Given the description of an element on the screen output the (x, y) to click on. 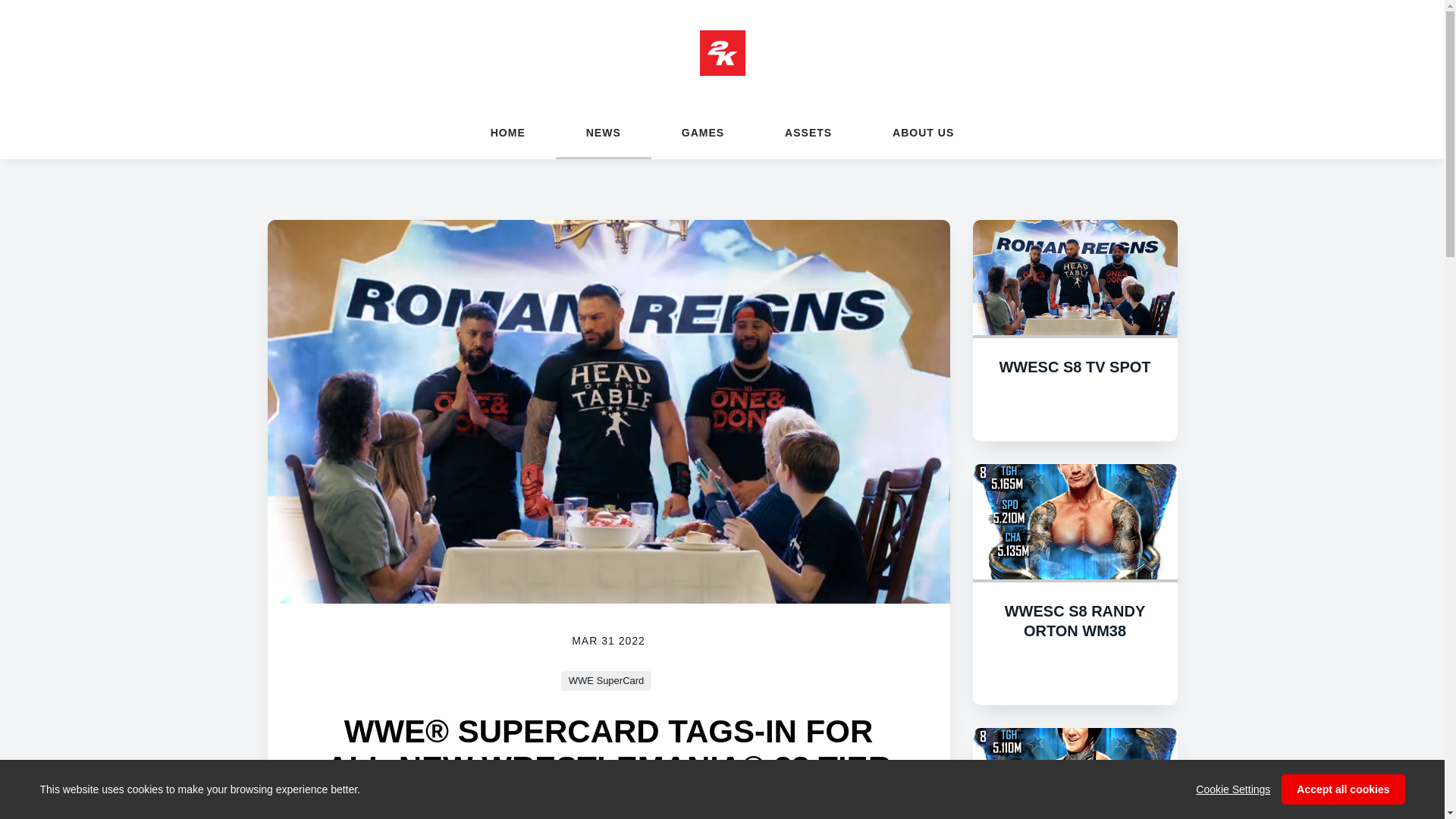
GAMES (702, 132)
HOME (508, 132)
DOWNLOAD (1074, 407)
WWESC S8 RANDY ORTON WM38 (1074, 620)
ASSETS (807, 132)
WWE SuperCard (606, 680)
WWESC S8 TV SPOT (1074, 366)
ABOUT US (922, 132)
NEWS (603, 132)
DOWNLOAD (1074, 671)
